Given the description of an element on the screen output the (x, y) to click on. 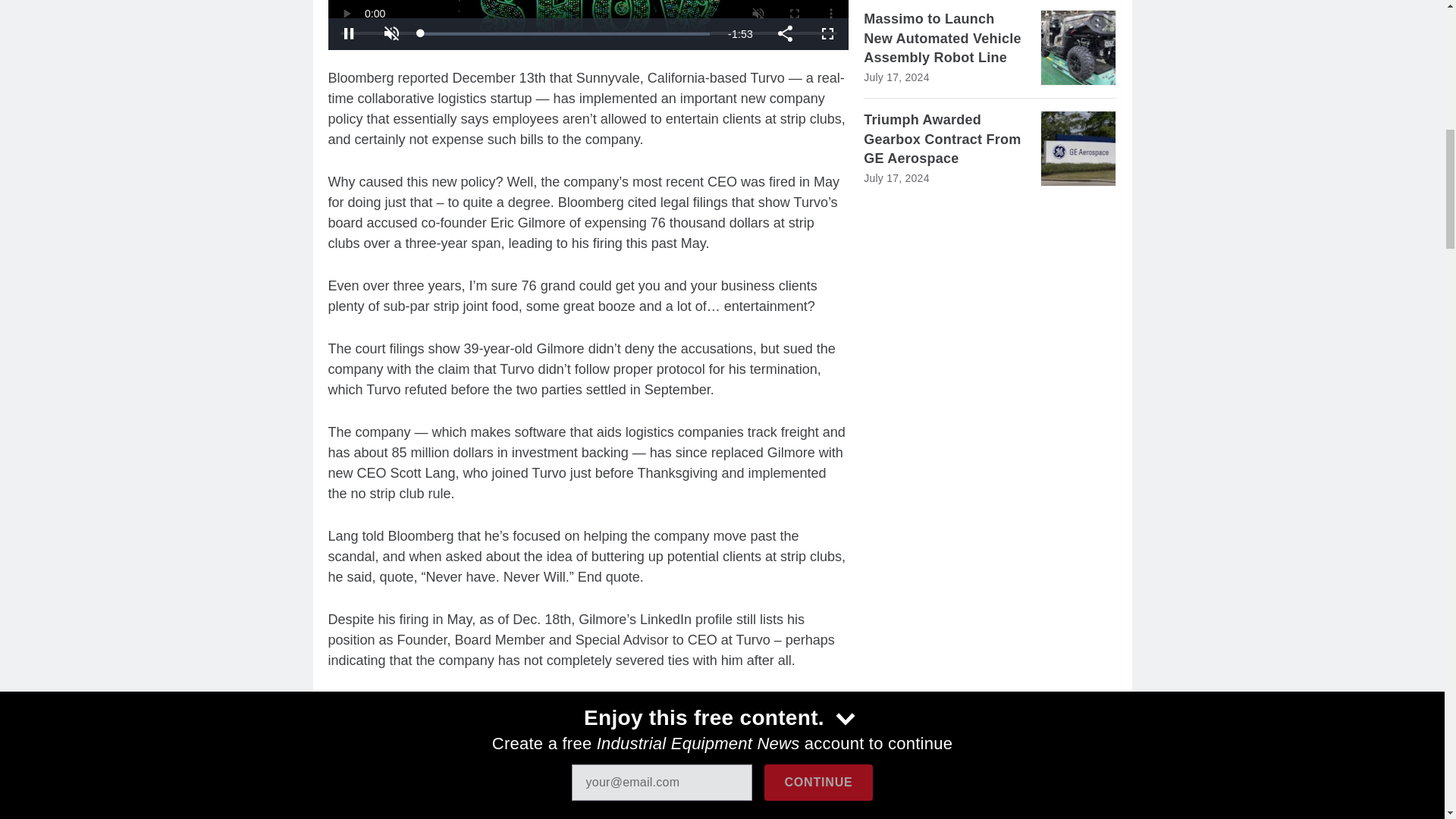
Pause (348, 33)
